Given the description of an element on the screen output the (x, y) to click on. 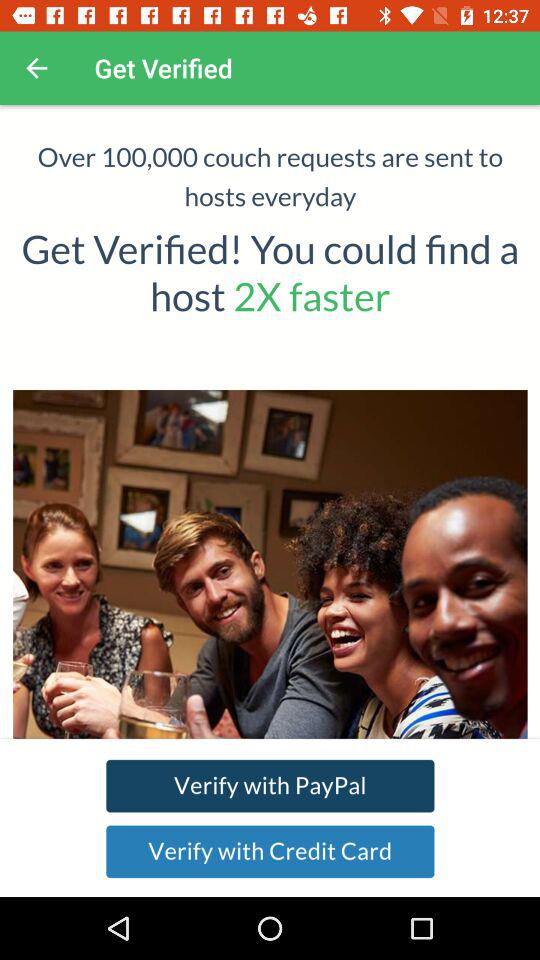
go to previous (36, 68)
